Given the description of an element on the screen output the (x, y) to click on. 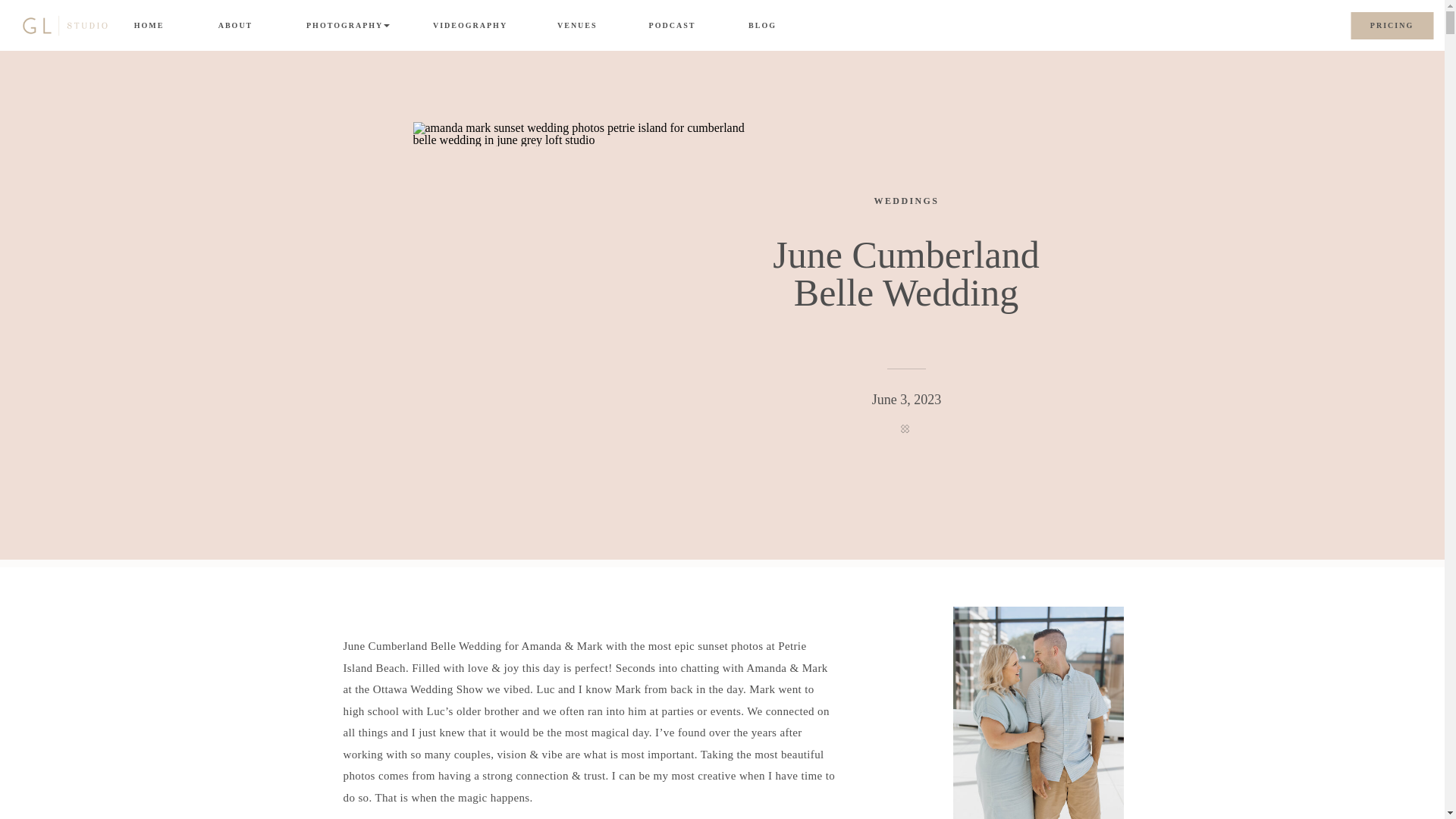
ABOUT (234, 25)
PHOTOGRAPHY (342, 26)
HOME (148, 26)
